Given the description of an element on the screen output the (x, y) to click on. 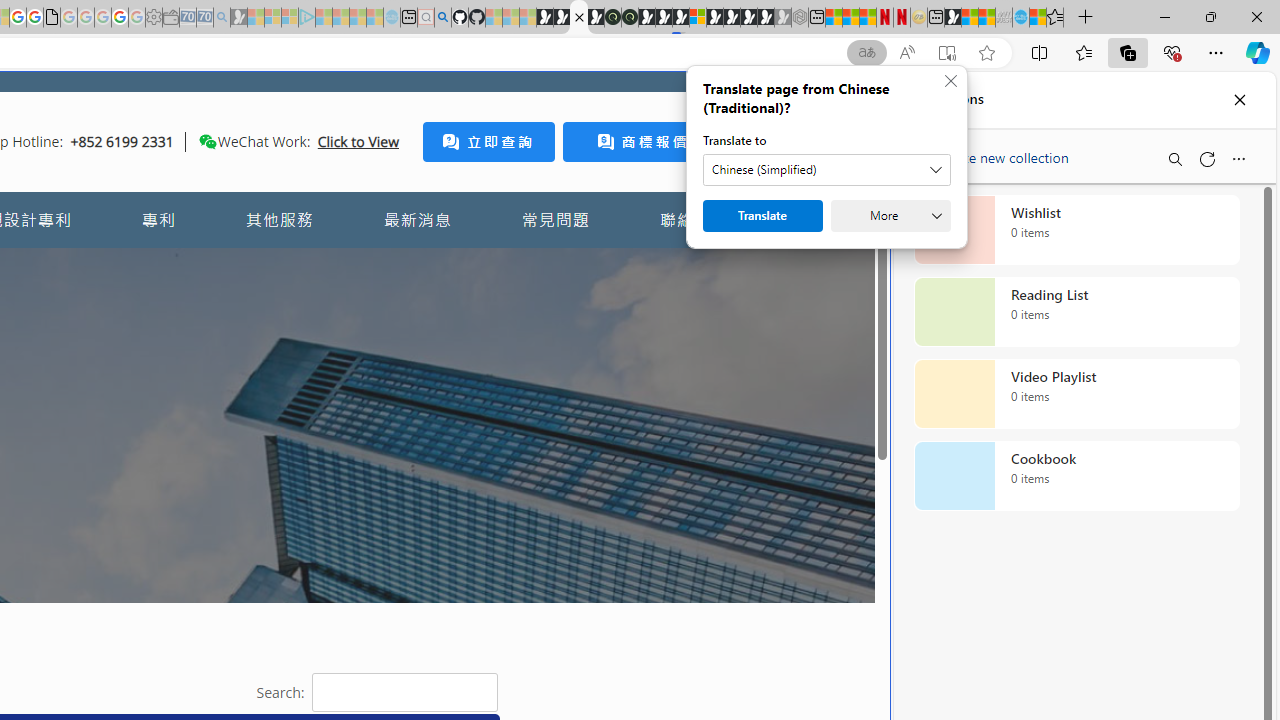
Home | Sky Blue Bikes - Sky Blue Bikes - Sleeping (392, 17)
Frequently visited (418, 265)
